Given the description of an element on the screen output the (x, y) to click on. 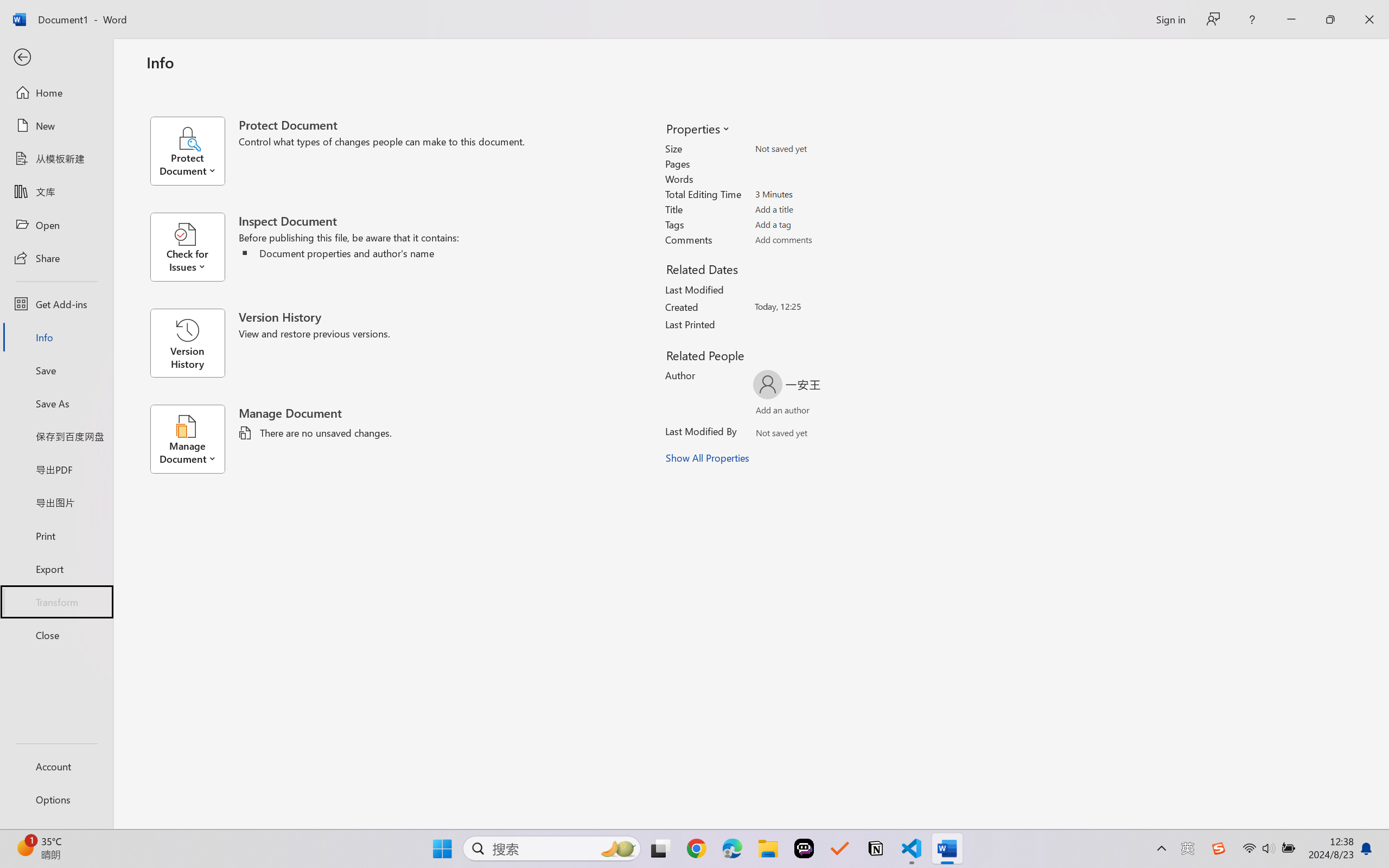
Title (818, 209)
Options (56, 798)
Manage Document (194, 438)
Check for Issues (194, 246)
Total Editing Time (818, 193)
